Given the description of an element on the screen output the (x, y) to click on. 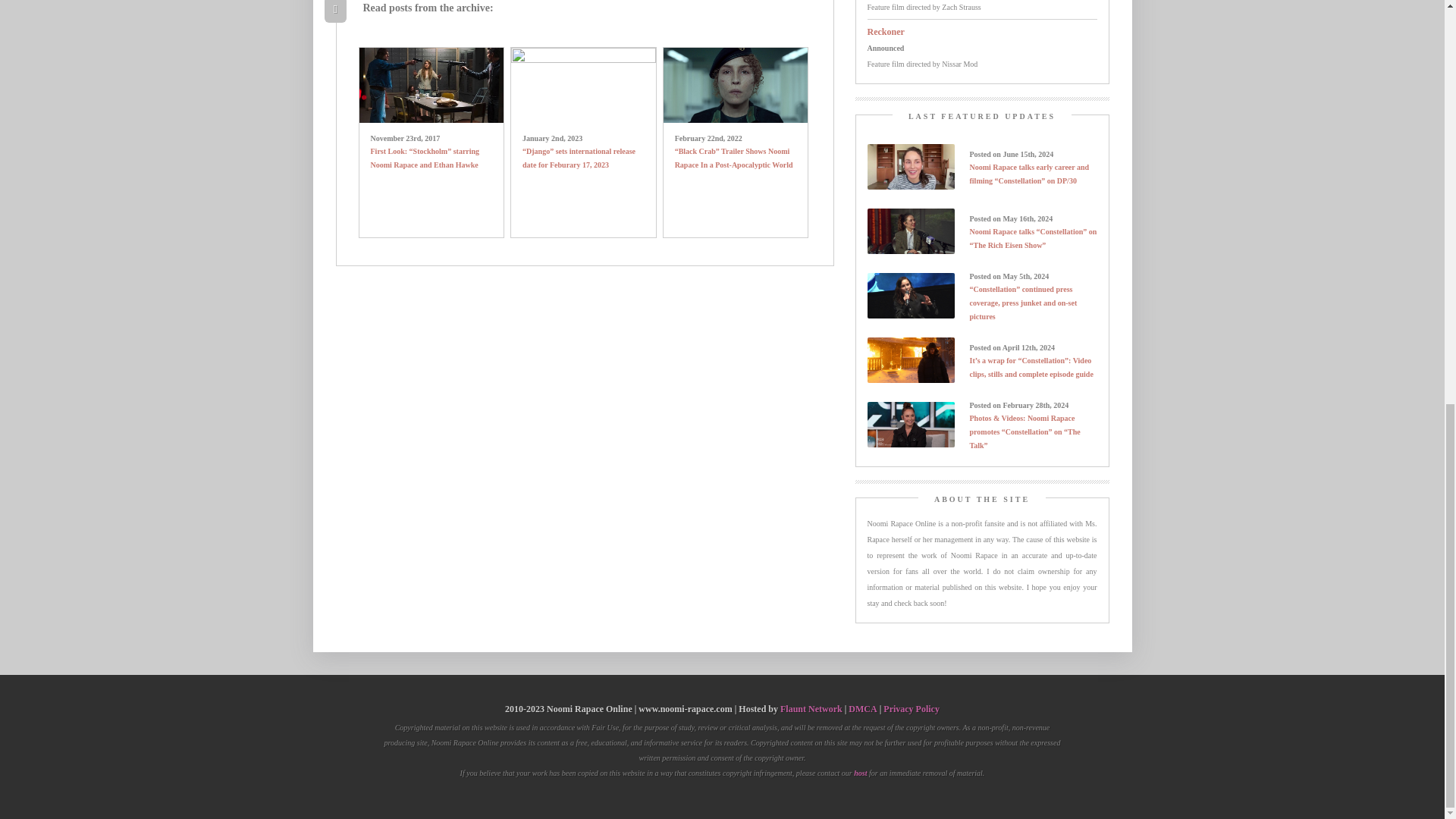
Reckoner (885, 31)
free fansite hosting (811, 709)
